Given the description of an element on the screen output the (x, y) to click on. 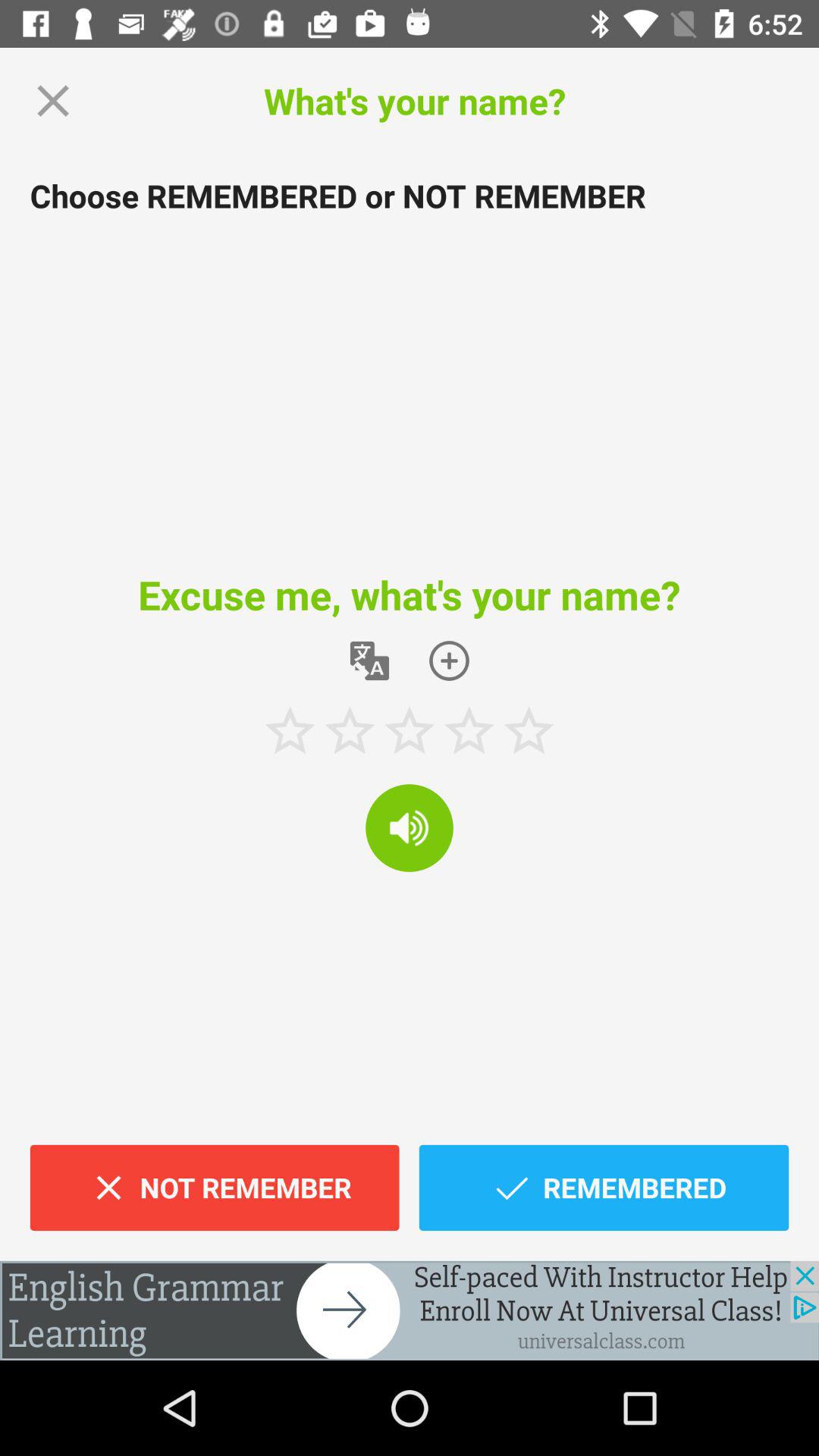
it is an advertisement (409, 1310)
